Given the description of an element on the screen output the (x, y) to click on. 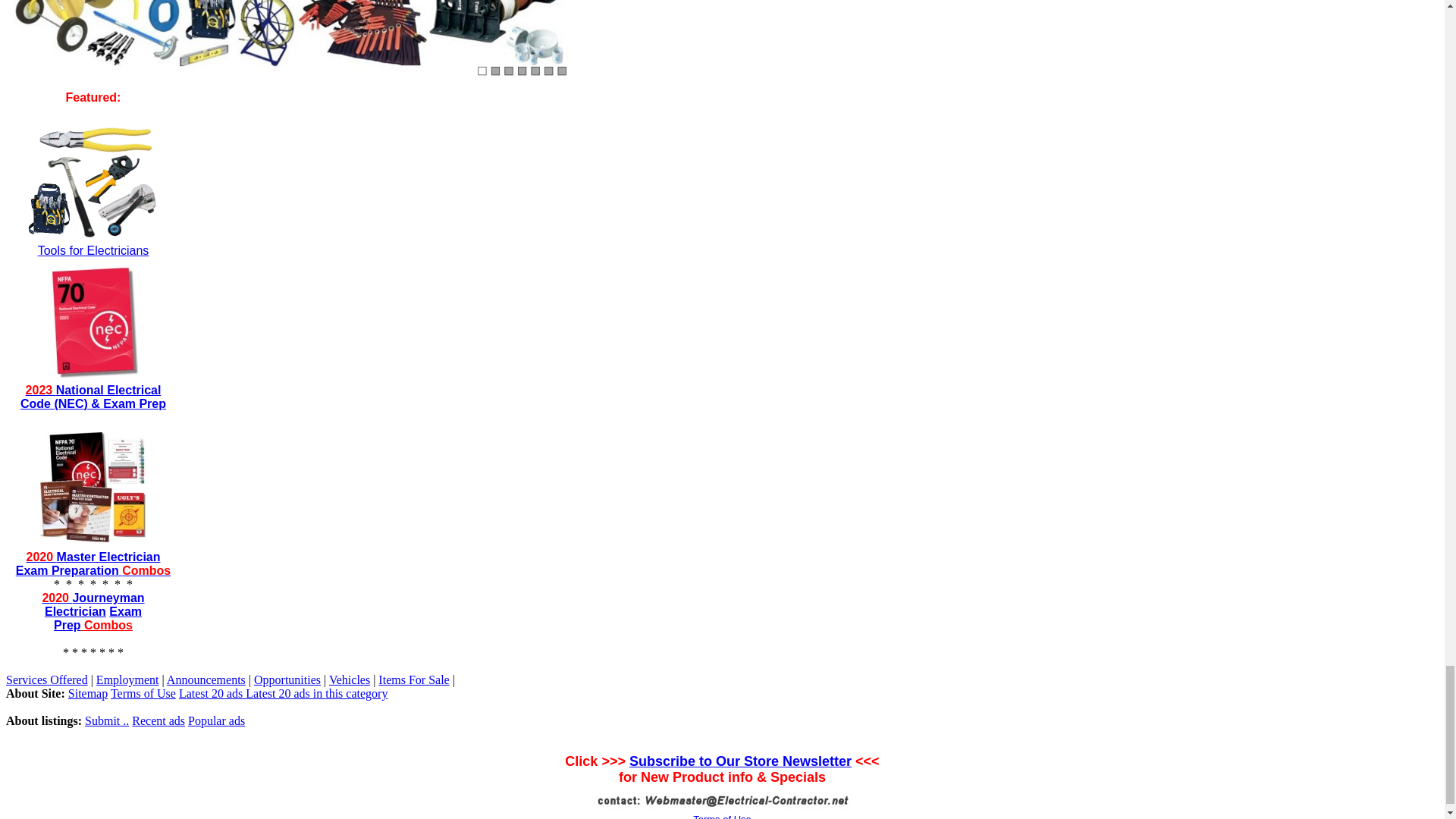
Items For Sale (413, 679)
Announcements (206, 679)
Employment (127, 679)
Opportunities (286, 679)
Vehicles (349, 679)
Services Offered (46, 679)
